Given the description of an element on the screen output the (x, y) to click on. 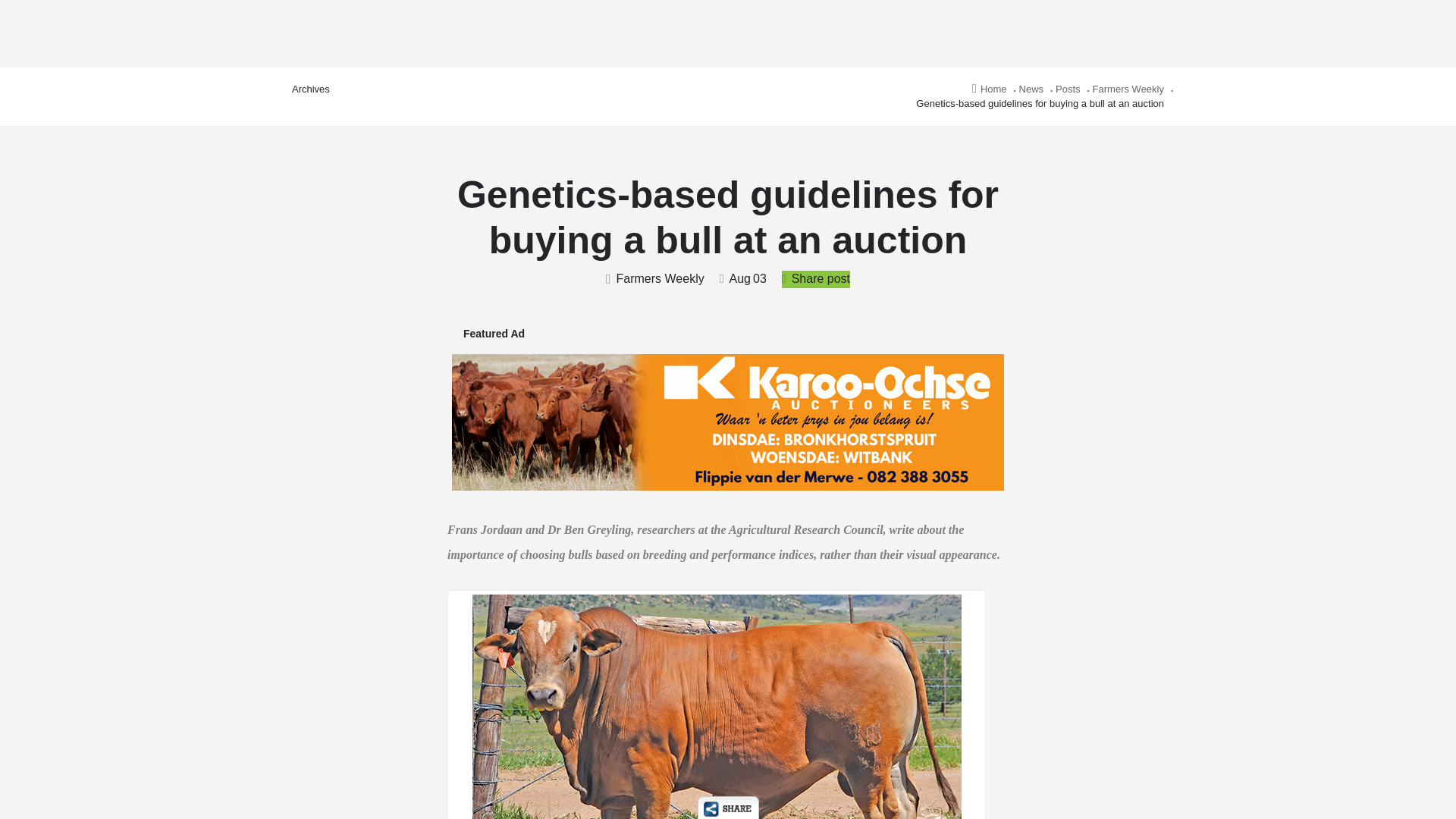
Farmers Weekly (1128, 89)
Posts (1067, 89)
Home (989, 89)
News (1031, 89)
Show Buttons (727, 806)
Farmers Weekly (654, 279)
Share post (815, 279)
